Given the description of an element on the screen output the (x, y) to click on. 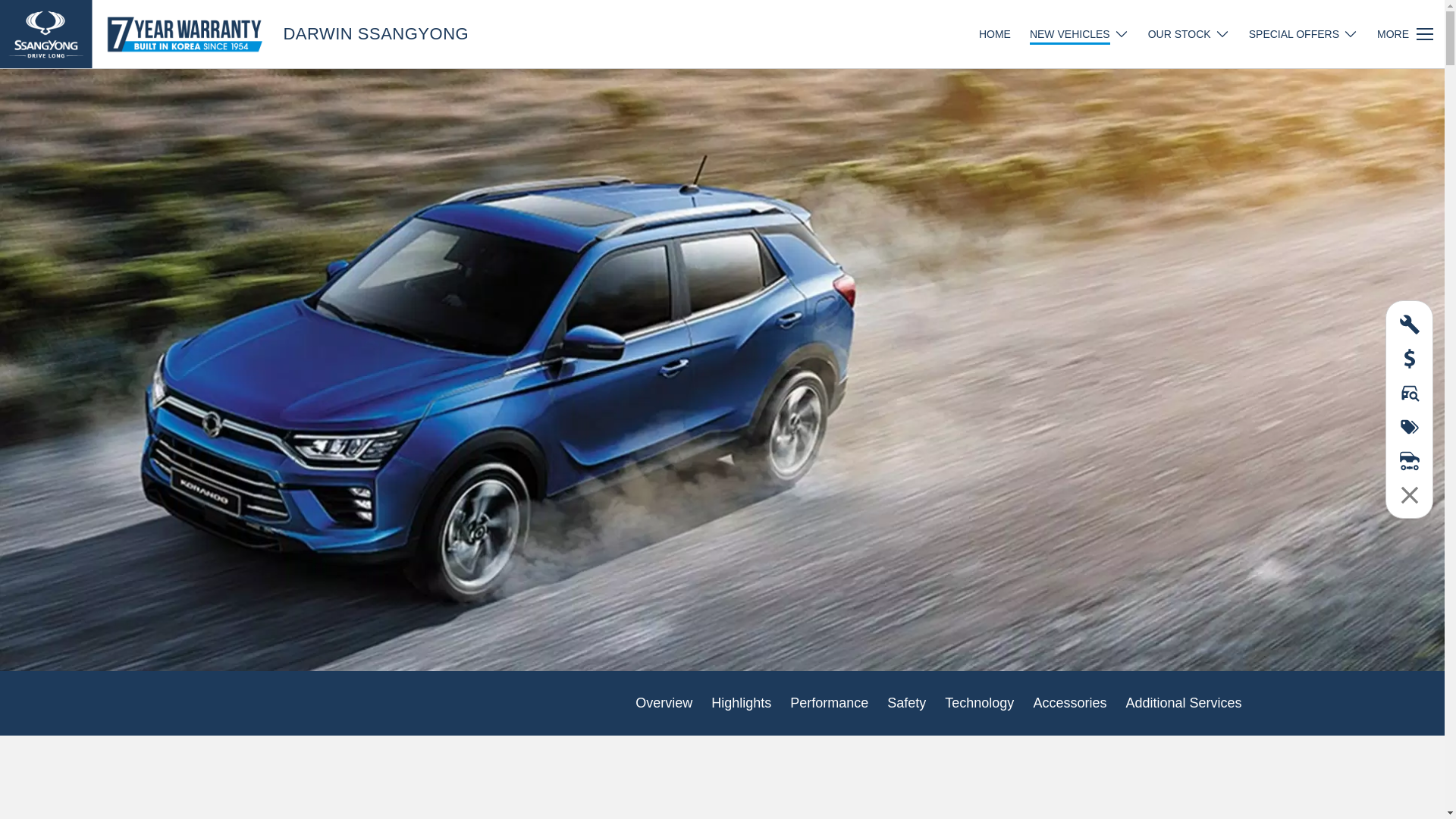
Accessories Element type: text (1069, 703)
HOME Element type: text (1004, 34)
Overview Element type: text (663, 703)
Performance Element type: text (829, 703)
Technology Element type: text (978, 703)
SPECIAL OFFERS Element type: text (1303, 34)
Highlights Element type: text (741, 703)
MORE Element type: text (1405, 33)
Additional Services Element type: text (1183, 703)
DARWIN SSANGYONG Element type: text (375, 33)
OUR STOCK Element type: text (1189, 34)
Safety Element type: text (906, 703)
NEW VEHICLES Element type: text (1079, 34)
